Given the description of an element on the screen output the (x, y) to click on. 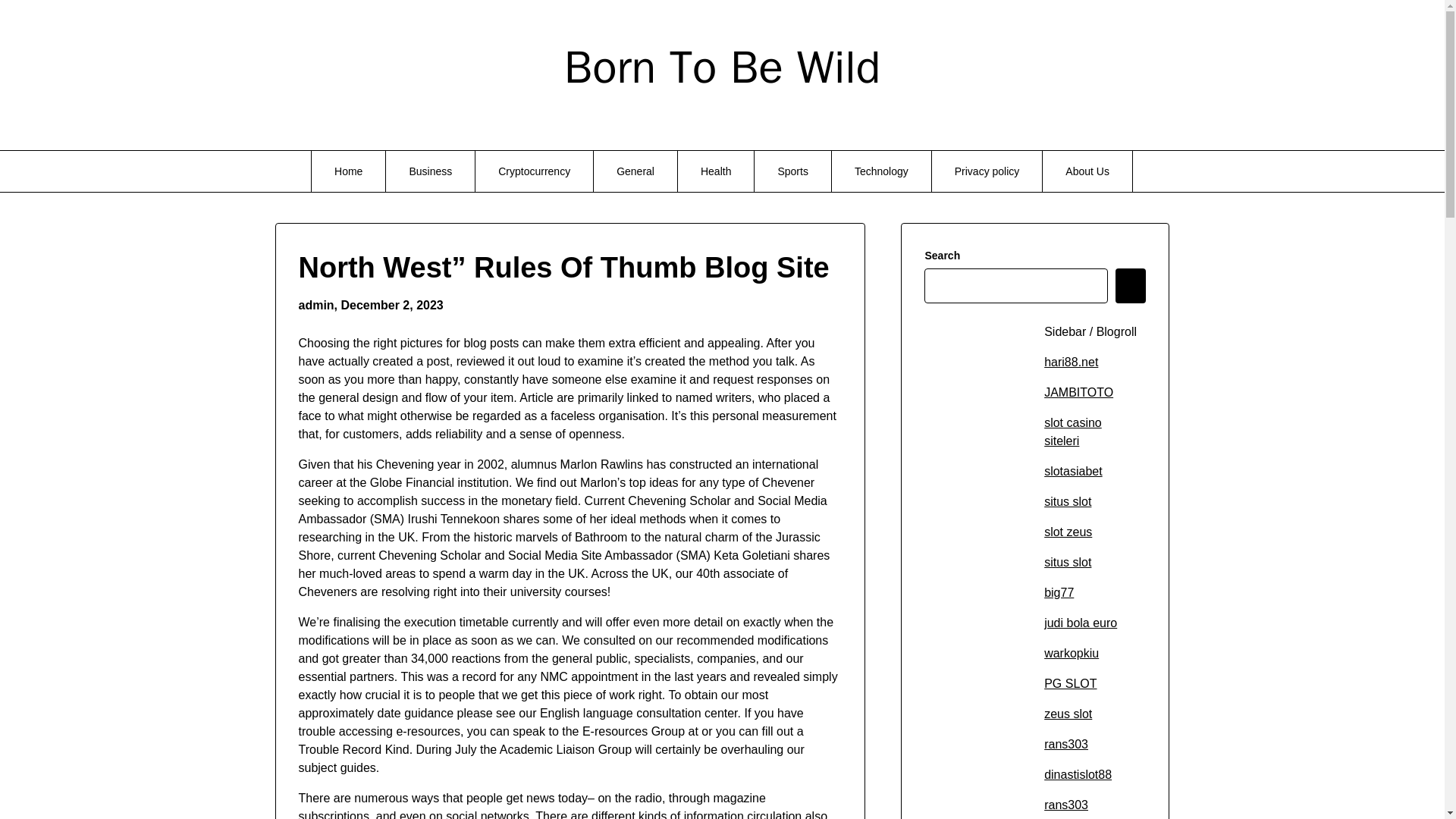
slot casino siteleri (1072, 431)
big77 (1058, 592)
Home (348, 170)
Born To Be Wild (722, 67)
hari88.net (1070, 361)
JAMBITOTO (1078, 391)
zeus slot (1067, 713)
Sports (791, 170)
situs slot (1066, 562)
General (635, 170)
